Given the description of an element on the screen output the (x, y) to click on. 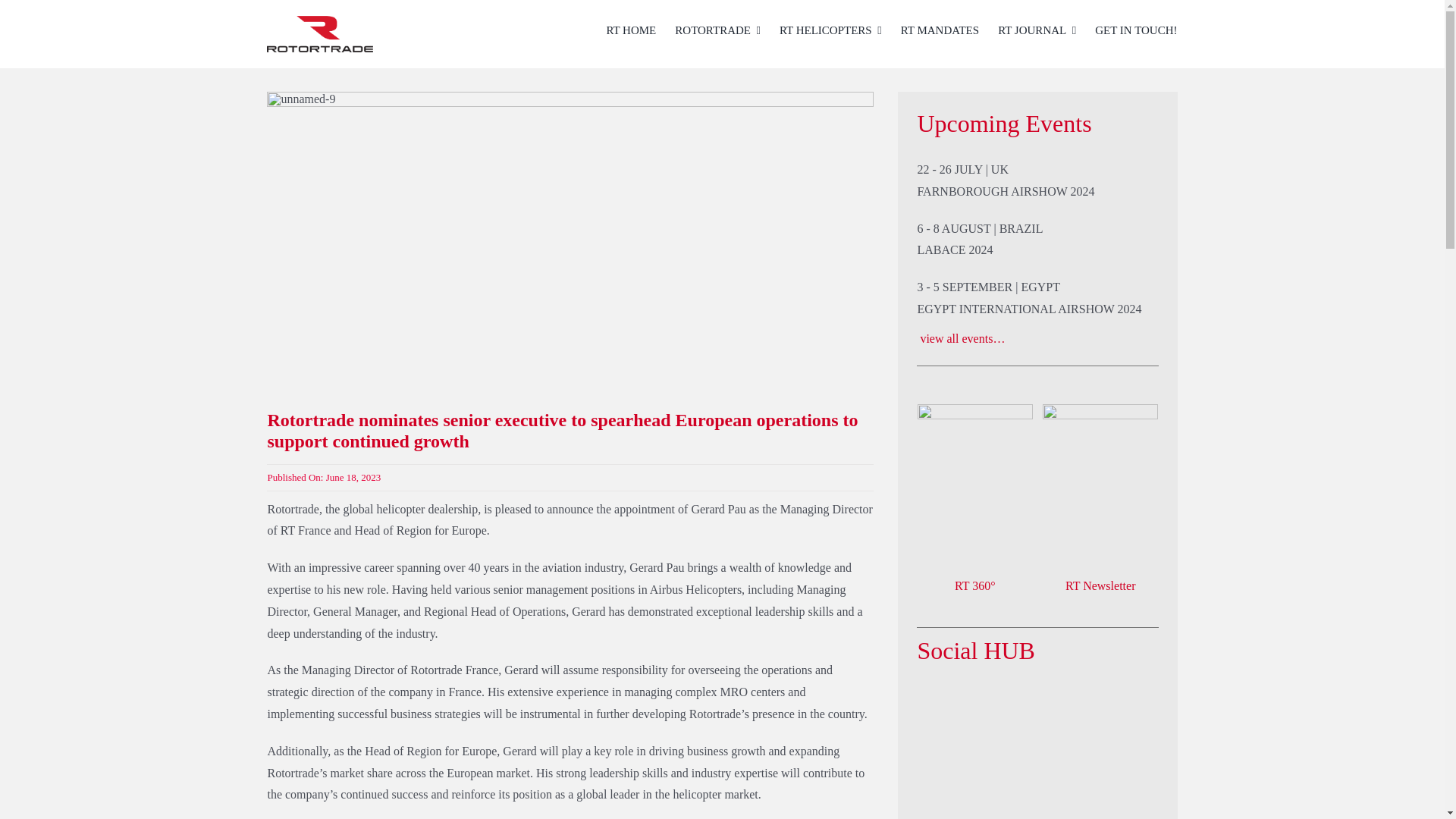
ROTORTRADE (717, 30)
RT HELICOPTERS (830, 30)
RT JOURNAL (1036, 30)
GET IN TOUCH! (1135, 30)
RT MANDATES (939, 30)
RT HOME (630, 30)
